Given the description of an element on the screen output the (x, y) to click on. 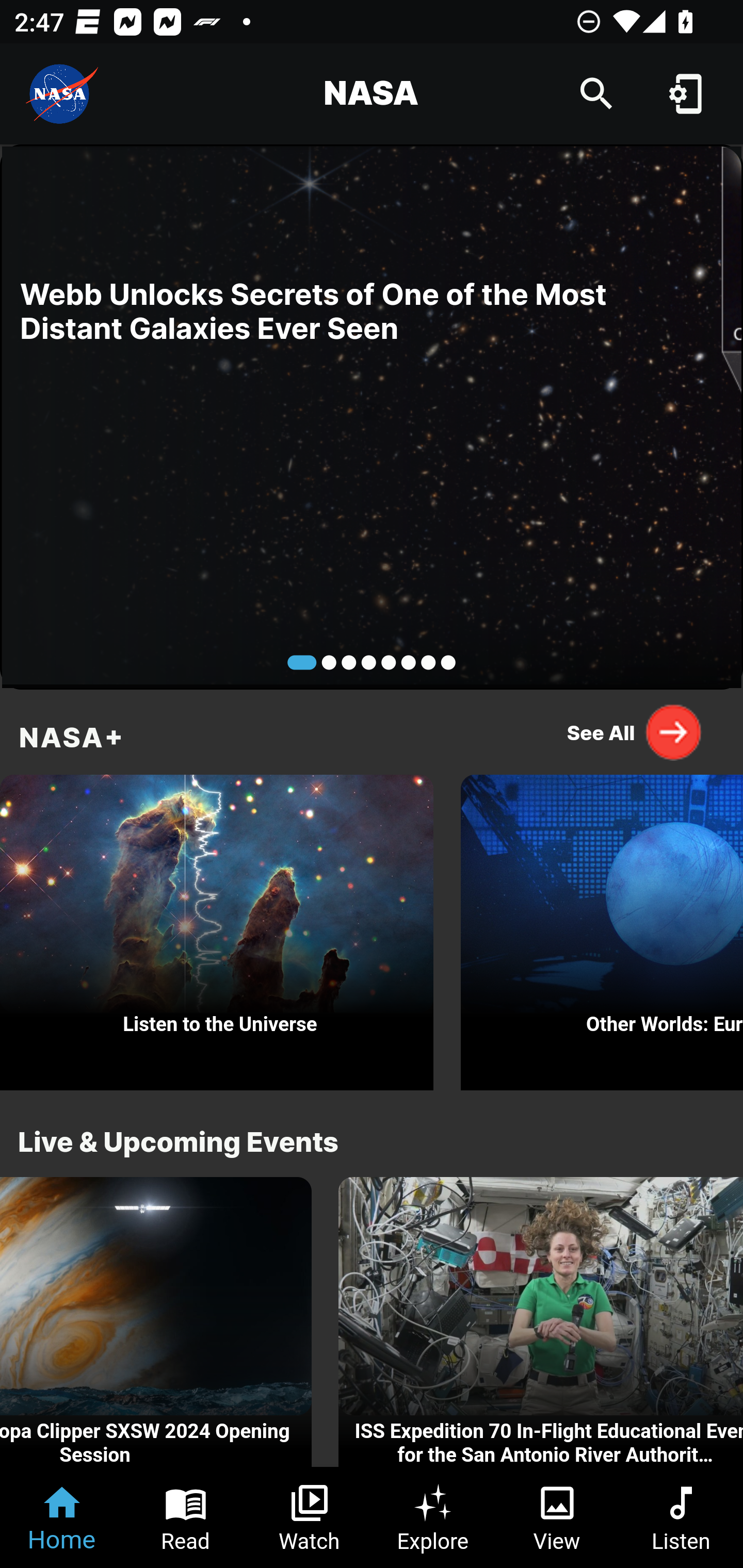
See All (634, 732)
Listen to the Universe (216, 927)
Other Worlds: Europa (601, 927)
NASA's Europa Clipper SXSW 2024 Opening Session (155, 1322)
Home
Tab 1 of 6 (62, 1517)
Read
Tab 2 of 6 (185, 1517)
Watch
Tab 3 of 6 (309, 1517)
Explore
Tab 4 of 6 (433, 1517)
View
Tab 5 of 6 (556, 1517)
Listen
Tab 6 of 6 (680, 1517)
